Given the description of an element on the screen output the (x, y) to click on. 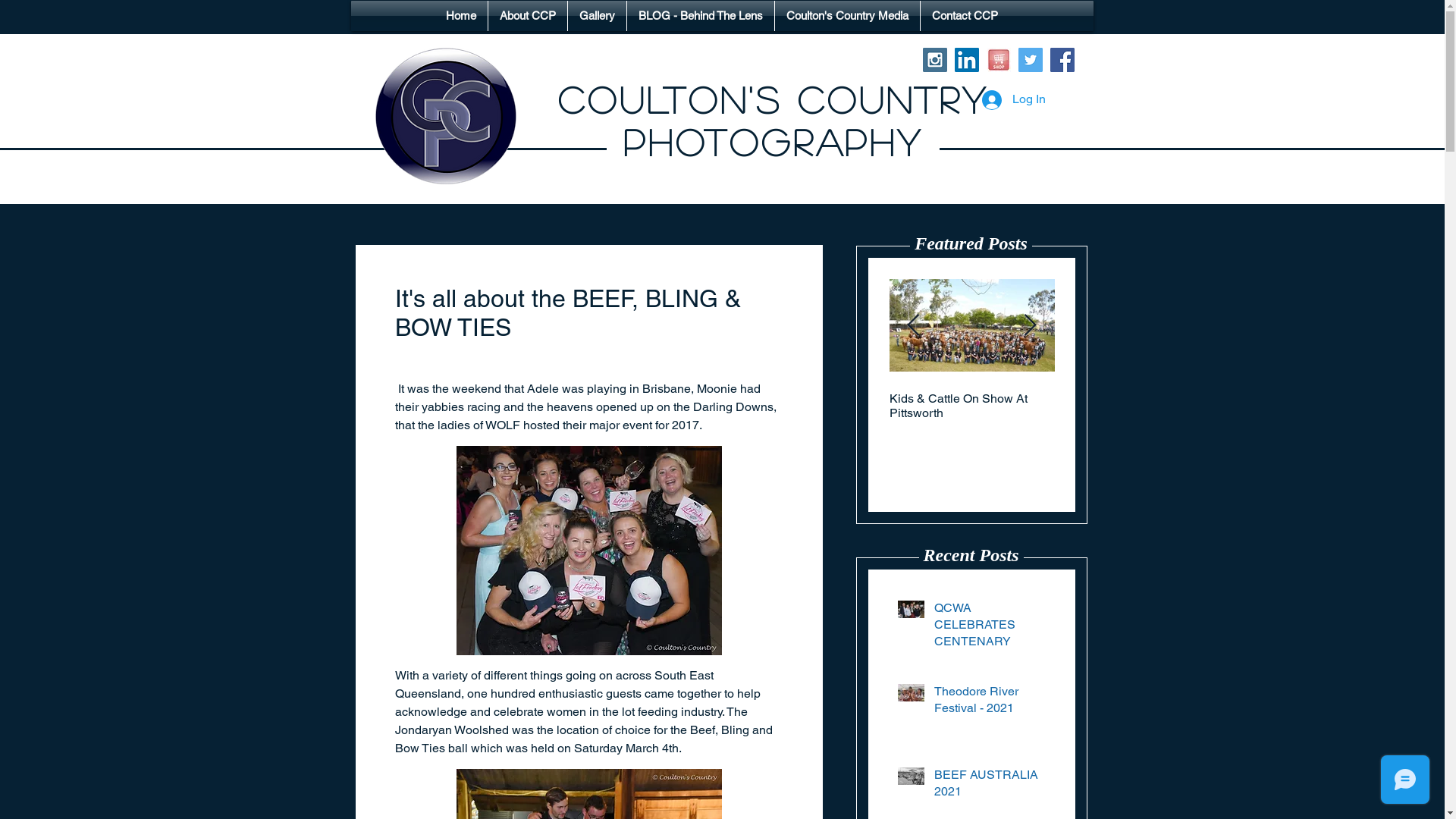
Contact CCP Element type: text (964, 15)
QCWA CELEBRATES CENTENARY Element type: text (990, 627)
2016 Downs Rugby Awards Element type: text (1301, 398)
It's all about the BEEF, BLING & BOW TIES Element type: text (640, 405)
A Day In The Life Of.....A Cooinda Bull Sale Element type: text (805, 405)
Kids & Cattle On Show At Pittsworth Element type: text (971, 405)
About CCP Element type: text (527, 15)
Log In Element type: text (1012, 98)
BLOG - Behind The Lens Element type: text (700, 15)
Monto's 87th Show Element type: text (475, 398)
Spellbound By Theodore Element type: text (309, 398)
CCP's Ekka Highlights - 2016 Element type: text (1136, 398)
final logo coultons country.png Element type: hover (444, 115)
Gallery Element type: text (596, 15)
BEEF AUSTRALIA 2021 Element type: text (990, 786)
Theodore River Festival - 2021 Element type: text (990, 703)
QCWA Connects With Mary Poppins Element type: text (144, 405)
Home Element type: text (460, 15)
Coulton's Country Media Element type: text (847, 15)
